Given the description of an element on the screen output the (x, y) to click on. 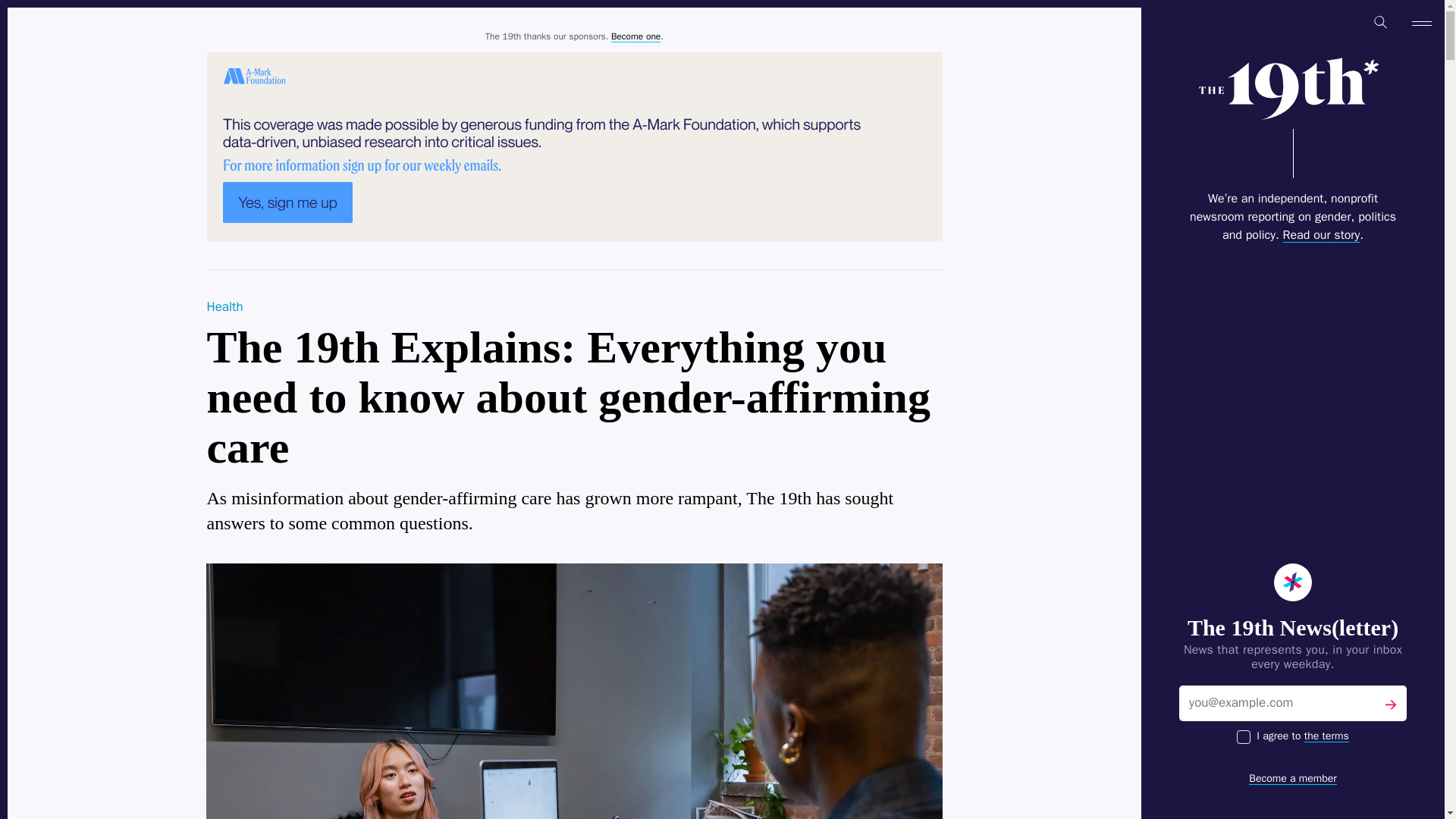
on (1243, 736)
